Given the description of an element on the screen output the (x, y) to click on. 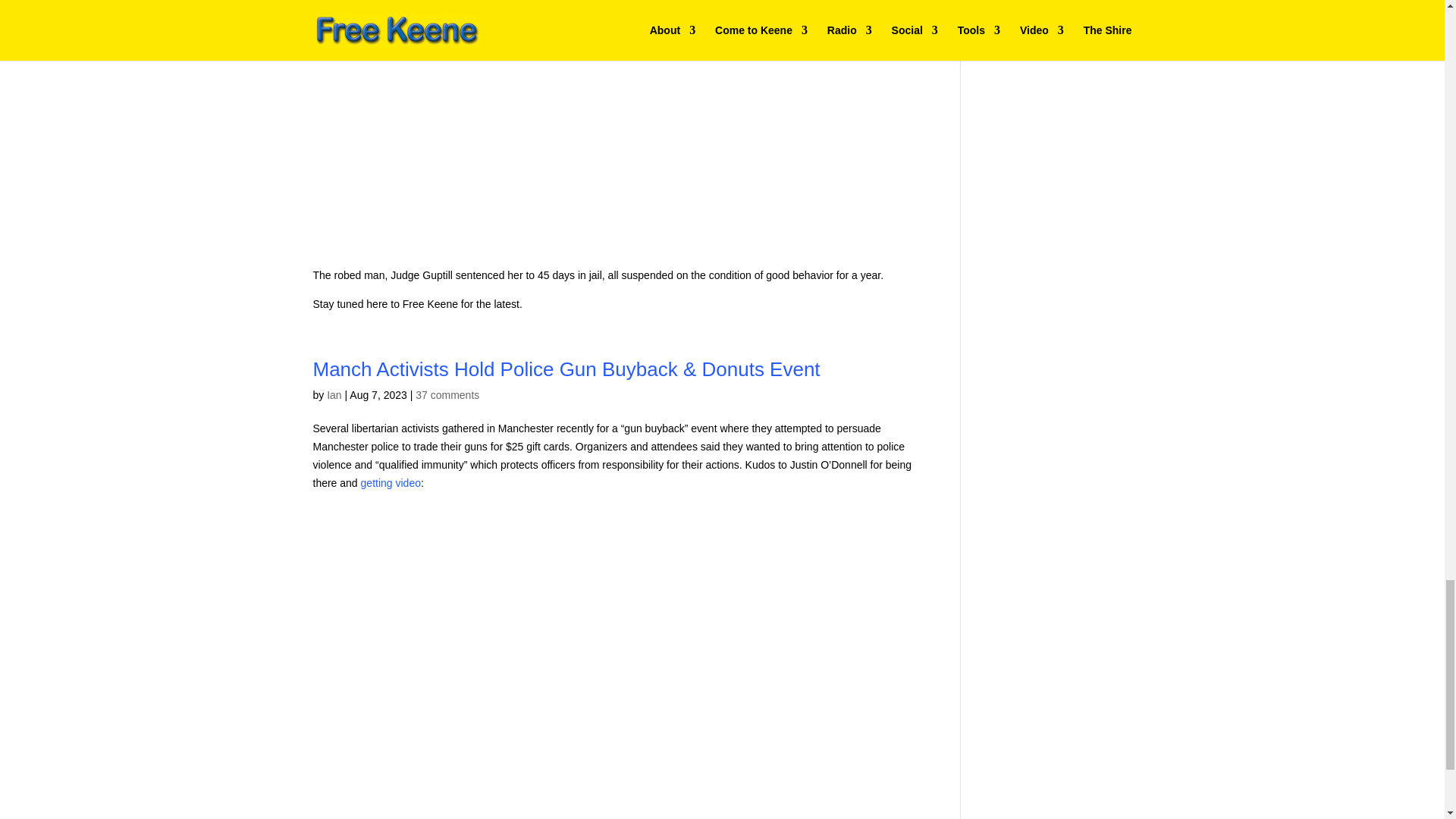
Posts by Ian (333, 395)
